Given the description of an element on the screen output the (x, y) to click on. 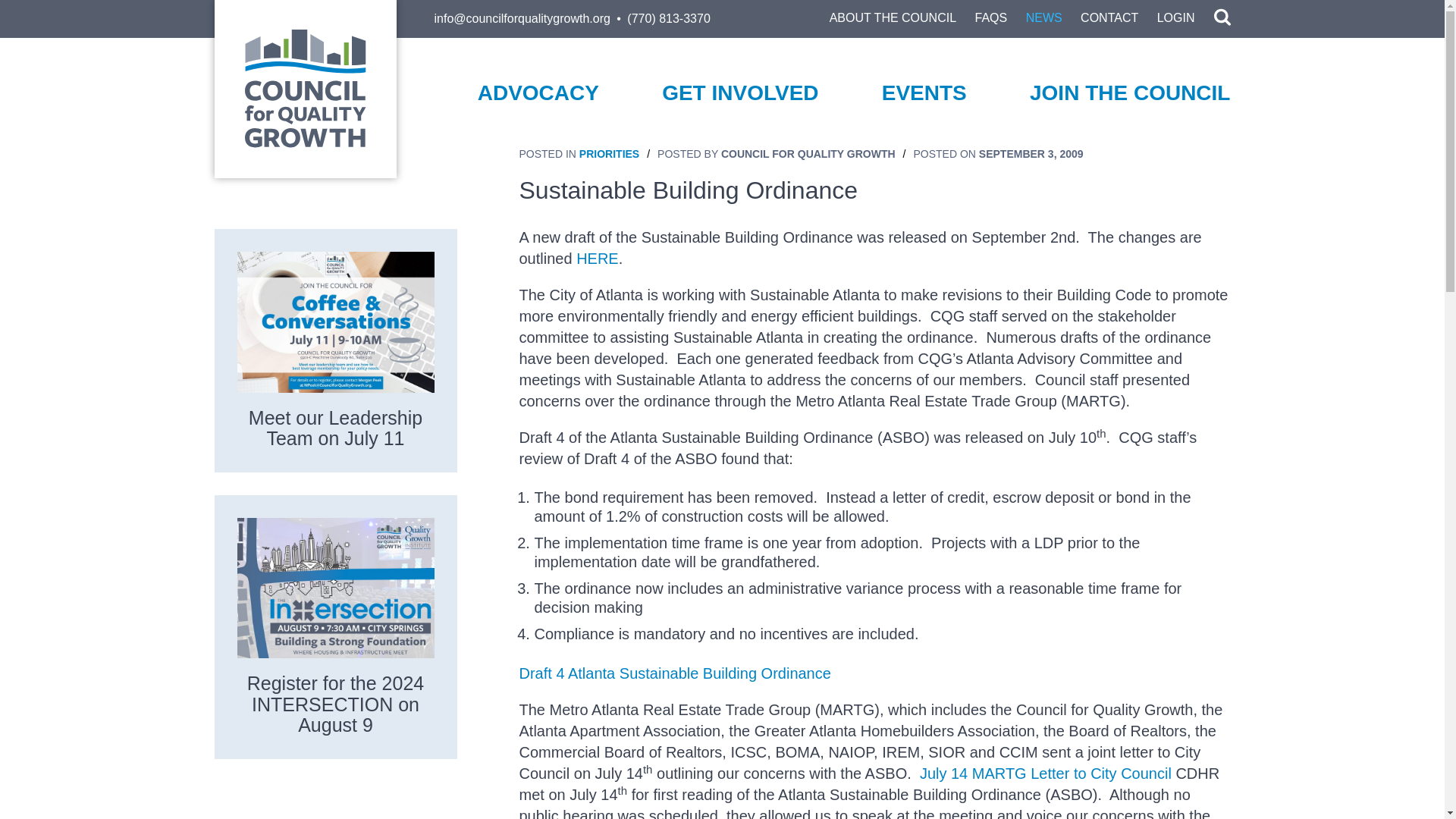
Council for Quality Growth (304, 88)
